Given the description of an element on the screen output the (x, y) to click on. 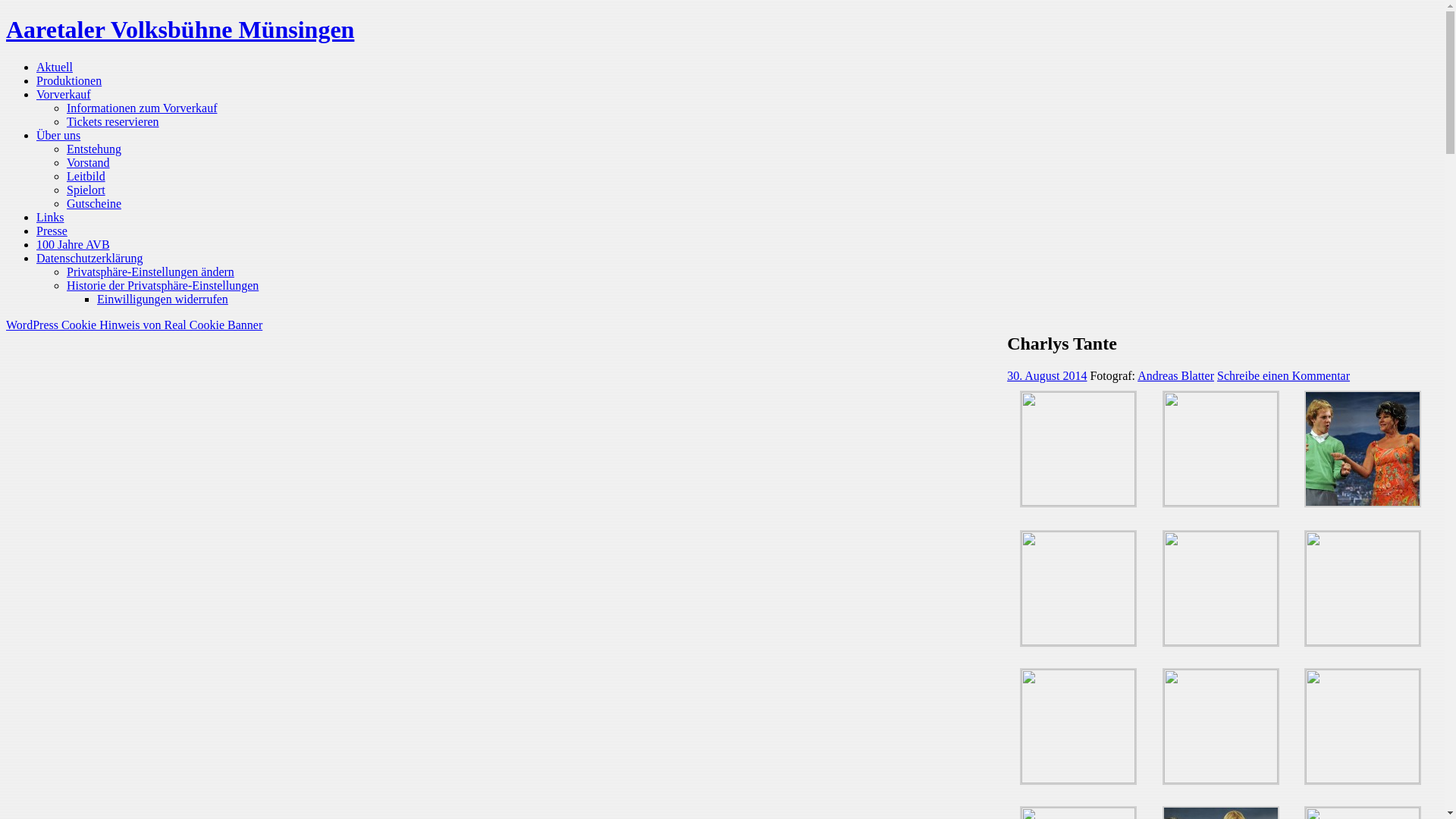
100 Jahre AVB Element type: text (72, 244)
Gutscheine Element type: text (93, 203)
Einwilligungen widerrufen Element type: text (162, 298)
Links Element type: text (49, 216)
Aktuell Element type: text (54, 66)
Andreas Blatter Element type: text (1175, 375)
Presse Element type: text (51, 230)
Informationen zum Vorverkauf Element type: text (141, 107)
Vorstand Element type: text (87, 162)
Entstehung Element type: text (93, 148)
Produktionen Element type: text (68, 80)
Schreibe einen Kommentar Element type: text (1283, 375)
Tickets reservieren Element type: text (112, 121)
WordPress Cookie Hinweis von Real Cookie Banner Element type: text (134, 324)
30. August 2014 Element type: text (1046, 375)
Leitbild Element type: text (85, 175)
Vorverkauf Element type: text (63, 93)
Spielort Element type: text (85, 189)
